Given the description of an element on the screen output the (x, y) to click on. 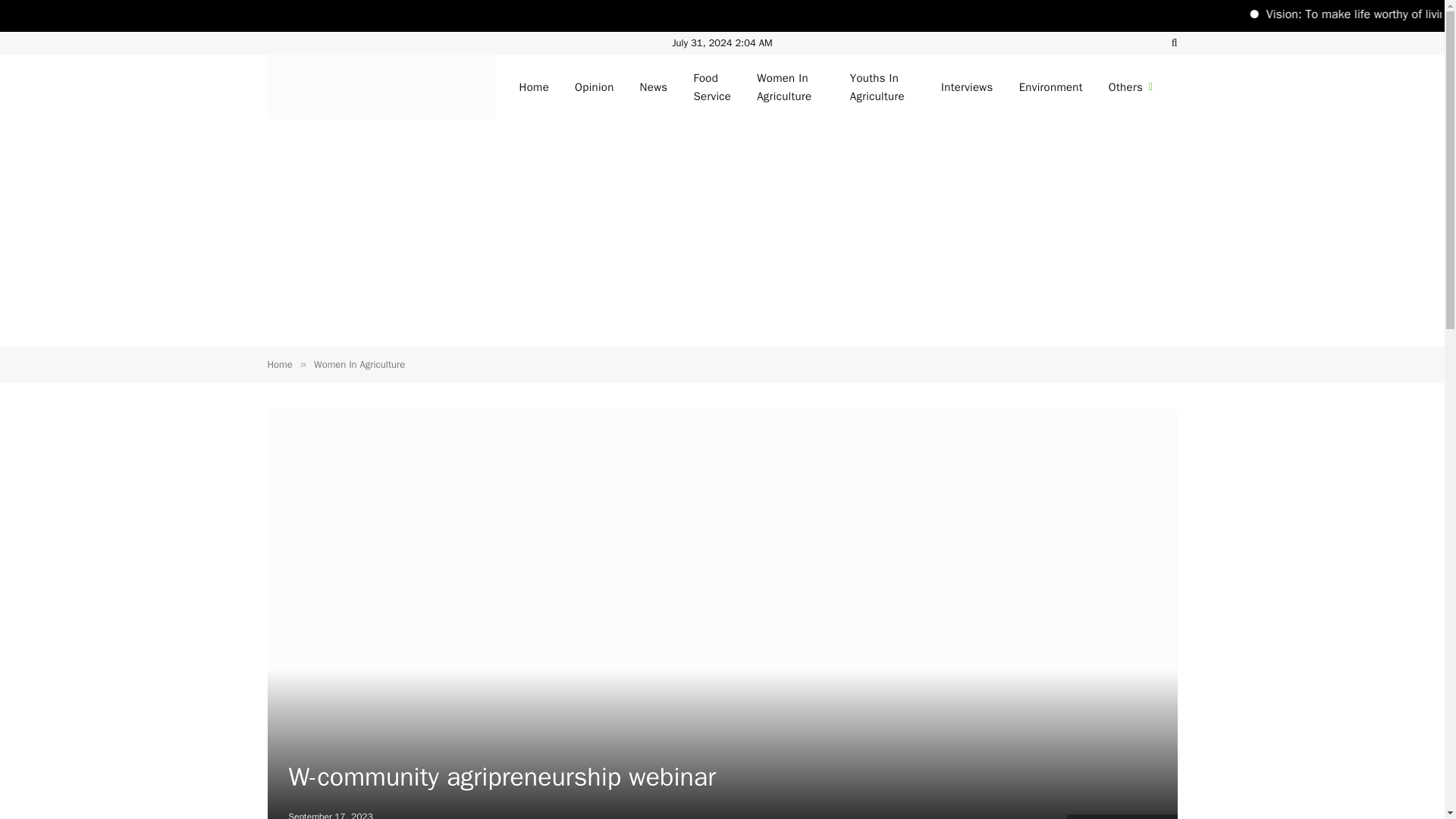
Others (1131, 86)
Women In Agriculture (359, 364)
Food Service (711, 86)
Home (279, 364)
Opinion (594, 86)
Environment (1051, 86)
Interviews (967, 86)
Women In Agriculture (790, 86)
Youths In Agriculture (882, 86)
FarmingFarmersFarms (380, 86)
